Given the description of an element on the screen output the (x, y) to click on. 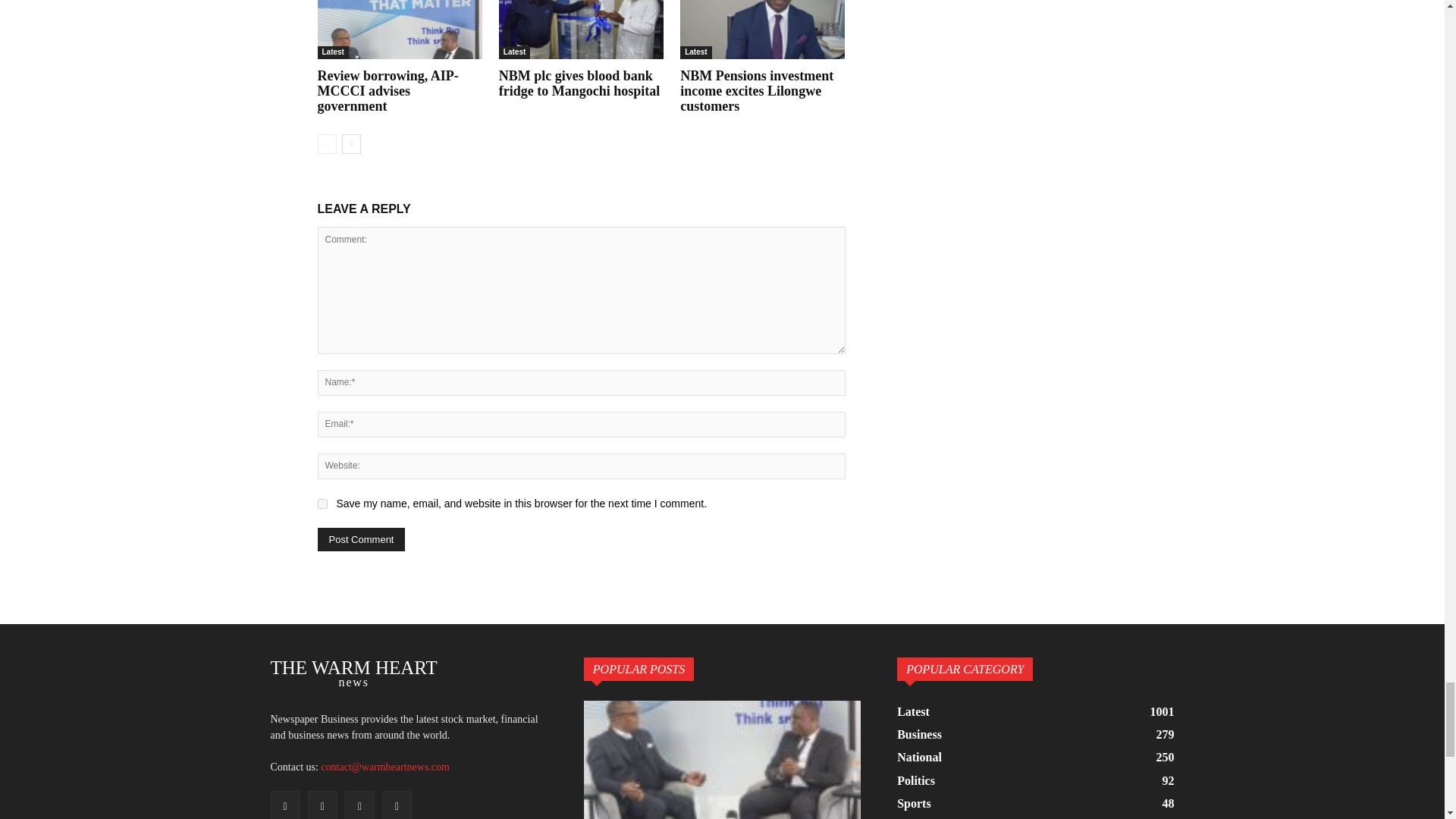
Post Comment (360, 539)
yes (321, 503)
